Given the description of an element on the screen output the (x, y) to click on. 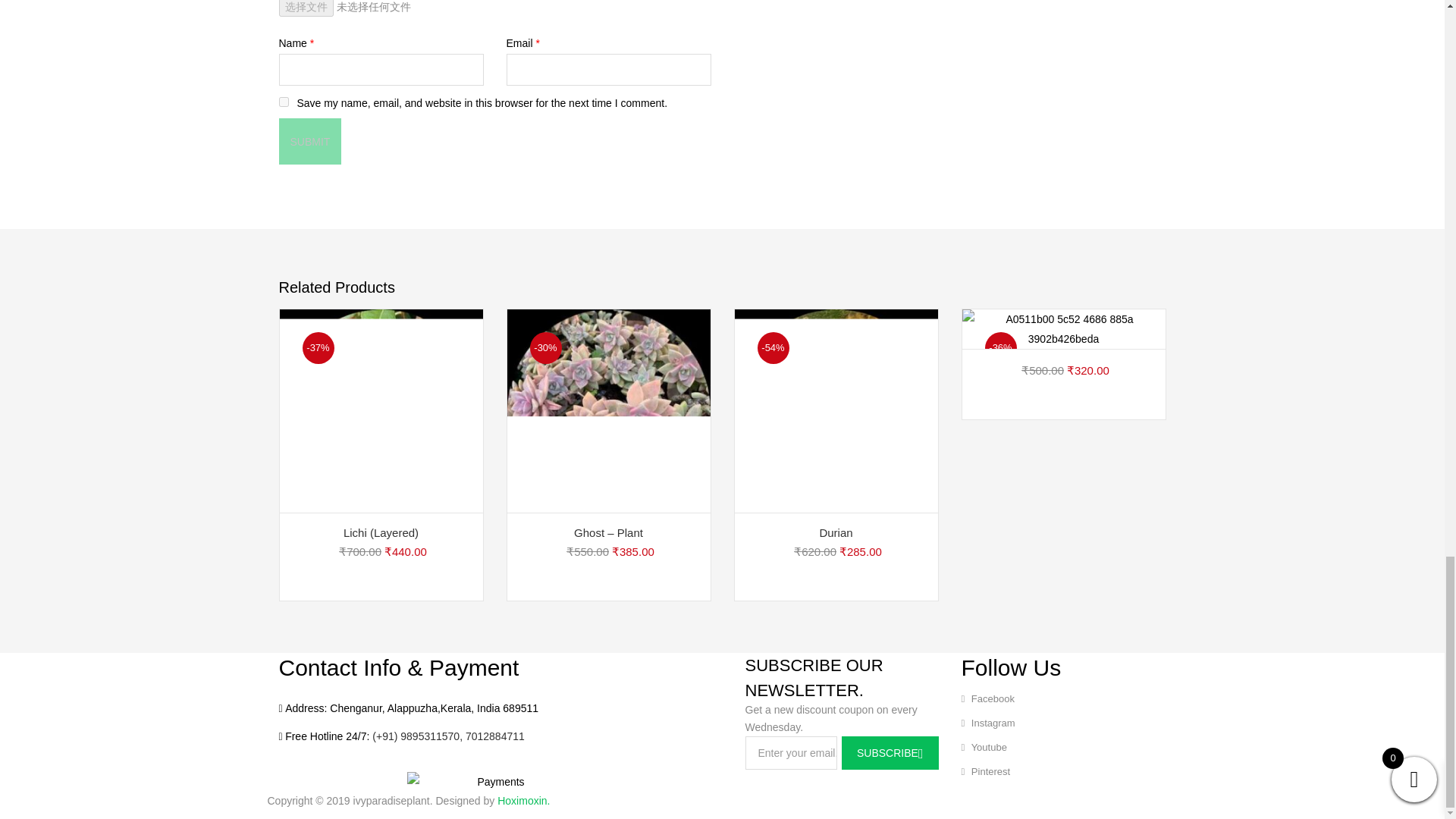
Submit (310, 140)
Durian (835, 410)
yes (283, 102)
